Given the description of an element on the screen output the (x, y) to click on. 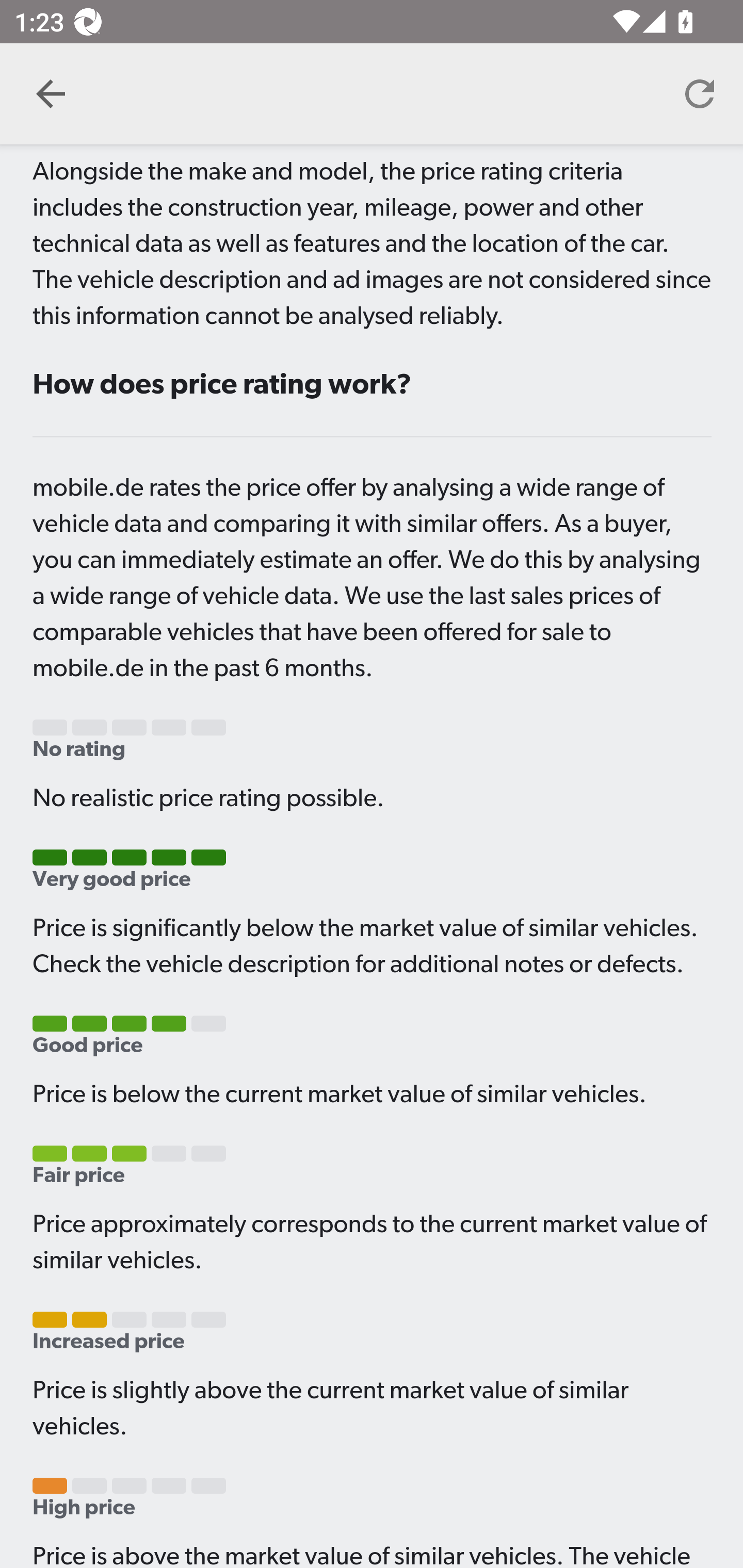
Navigate up (50, 93)
synchronize (699, 93)
